Given the description of an element on the screen output the (x, y) to click on. 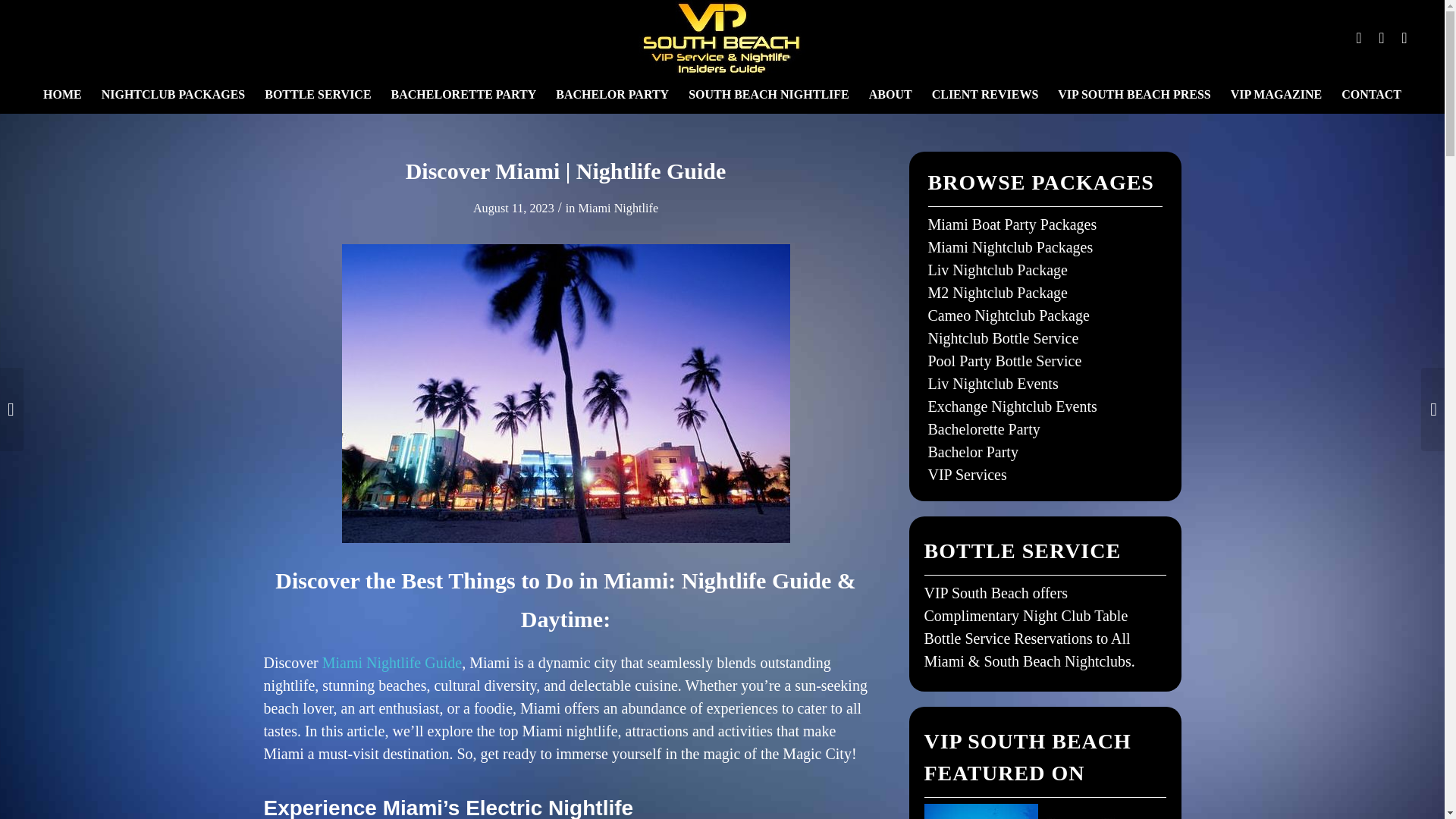
SOUTH BEACH NIGHTLIFE (768, 94)
VIP MAGAZINE (1276, 94)
NIGHTCLUB PACKAGES (173, 94)
VIP SOUTH BEACH PRESS (1134, 94)
LinkedIn (1404, 37)
Liv Nightclub Package (997, 269)
CLIENT REVIEWS (984, 94)
Instagram (1381, 37)
CONTACT (1371, 94)
Miami Boat Party Packages (1012, 224)
HOME (62, 94)
ABOUT (890, 94)
BACHELORETTE PARTY (464, 94)
Miami Nightclub Packages (1010, 247)
Miami Nightlife Guide (391, 662)
